Given the description of an element on the screen output the (x, y) to click on. 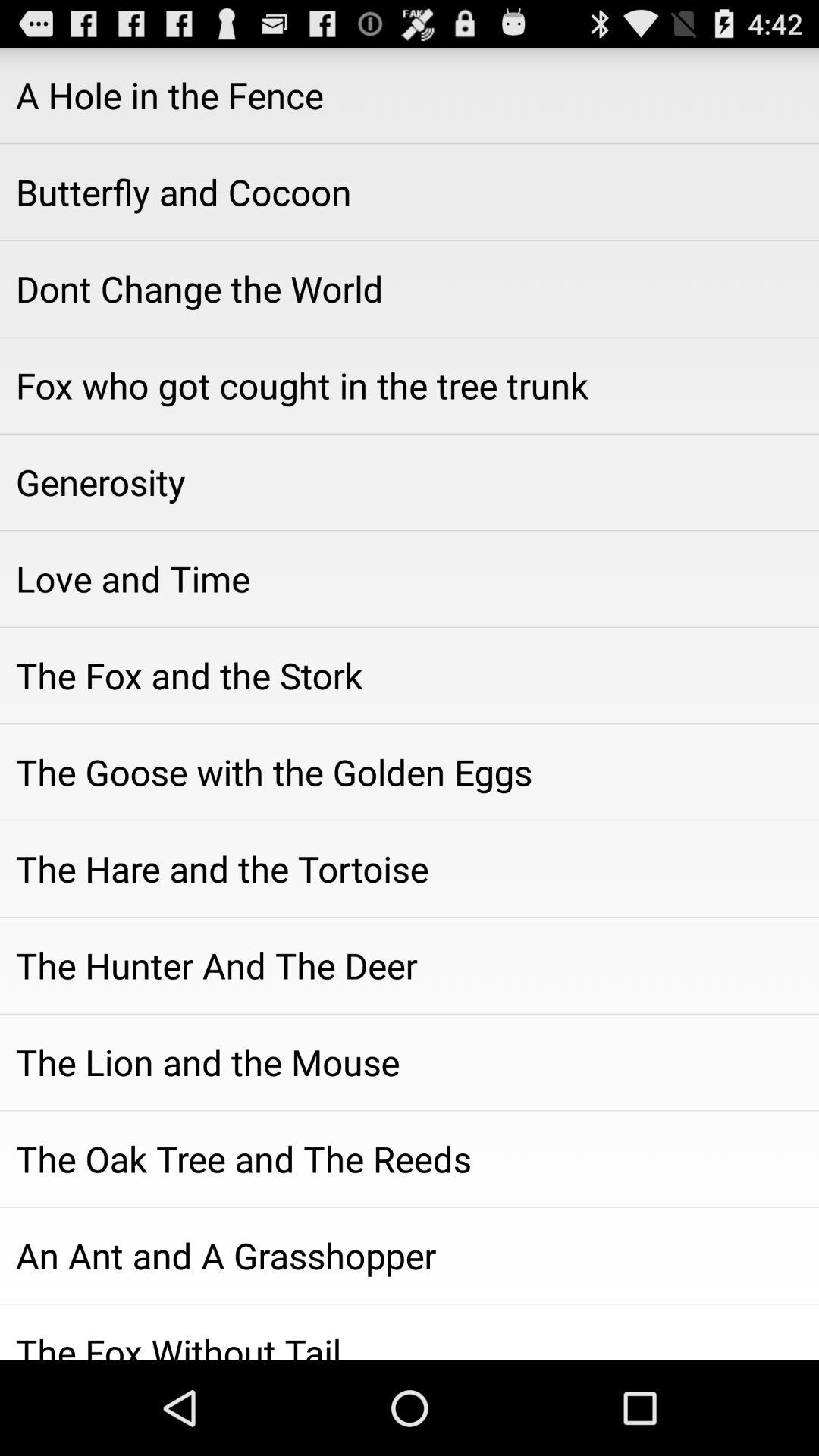
click the a hole in icon (409, 95)
